Given the description of an element on the screen output the (x, y) to click on. 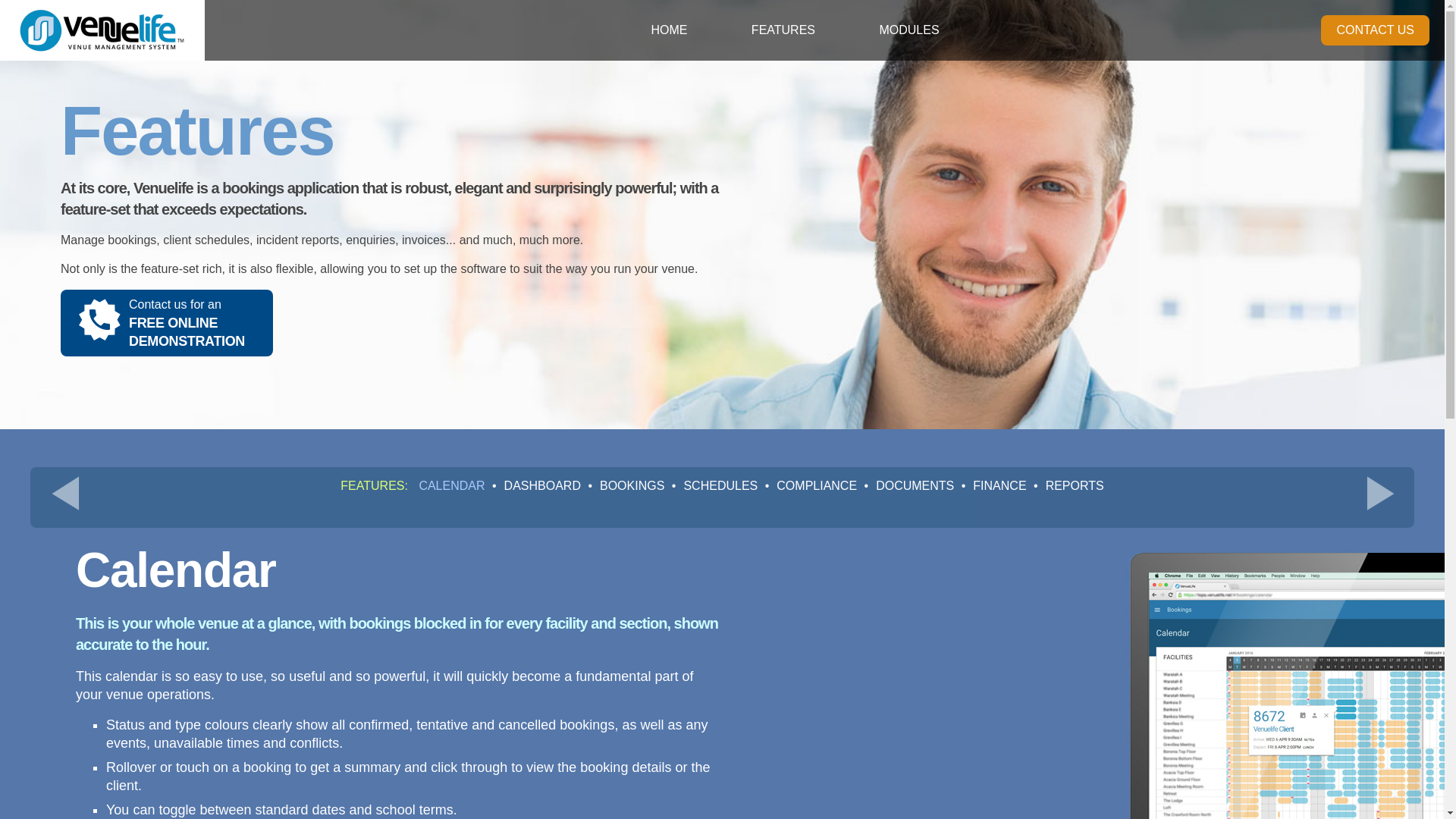
CALENDAR (451, 485)
MODULES (908, 30)
BOOKINGS (623, 485)
REPORTS (1066, 485)
DOCUMENTS (907, 485)
COMPLIANCE (809, 485)
SCHEDULES (167, 322)
DASHBOARD (712, 485)
CONTACT US (533, 485)
